Given the description of an element on the screen output the (x, y) to click on. 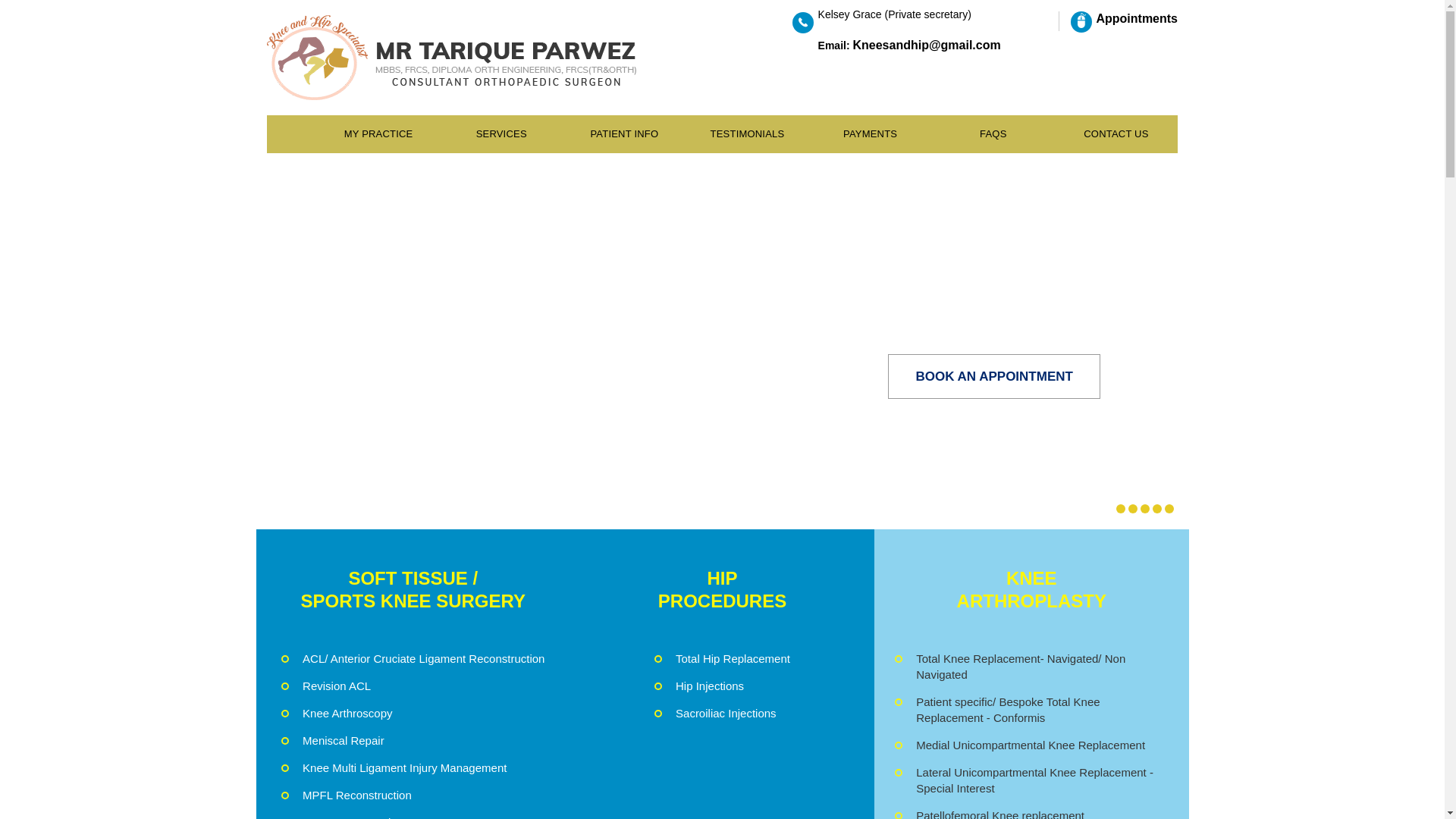
HOME (298, 134)
SERVICES (500, 134)
PATIENT INFO (623, 134)
FAQS (992, 134)
TESTIMONIALS (746, 134)
MY PRACTICE (378, 134)
Appointments (1123, 18)
PAYMENTS (870, 134)
